Given the description of an element on the screen output the (x, y) to click on. 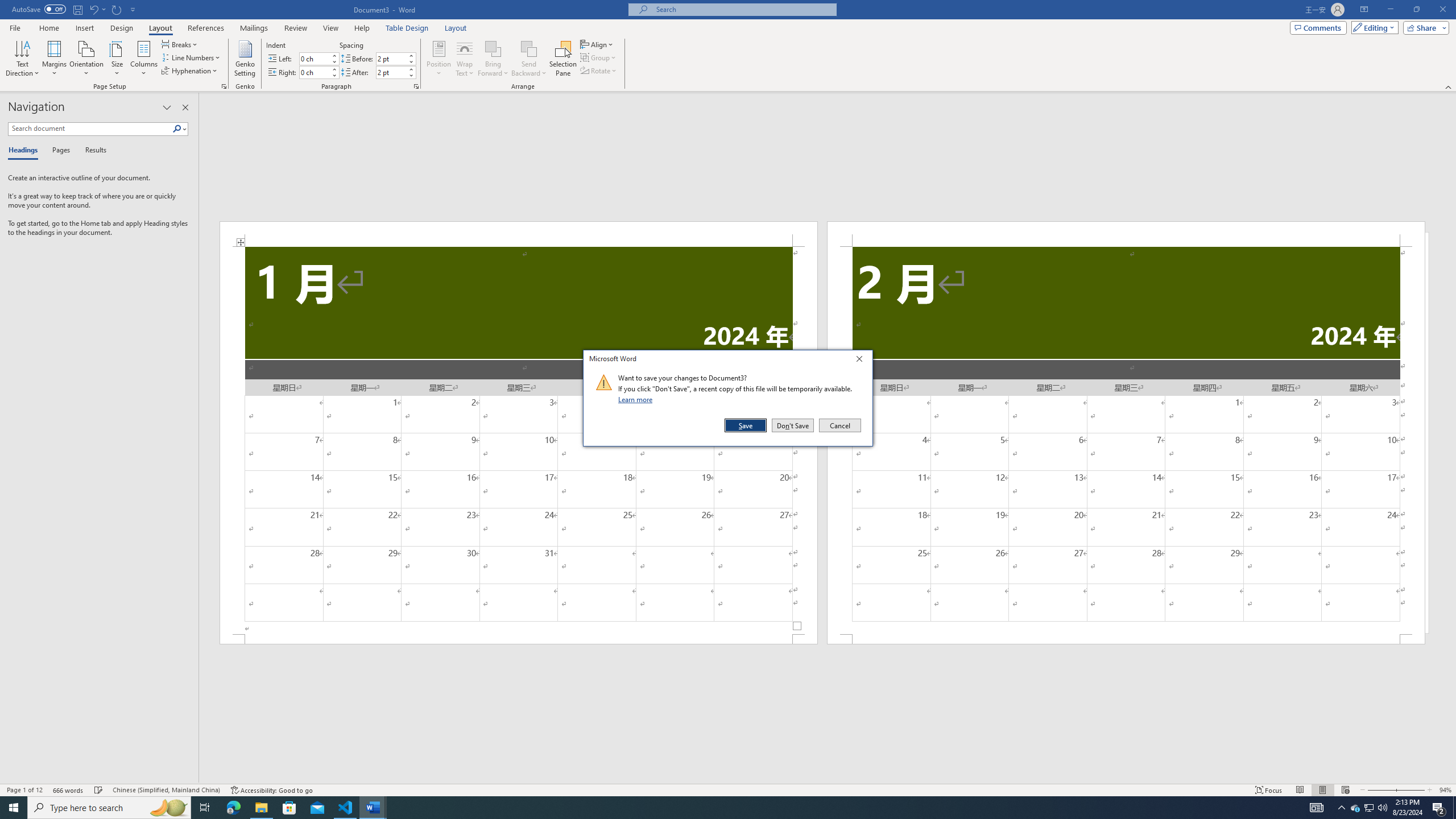
Ribbon Display Options (1364, 9)
Group (599, 56)
Zoom Out (1380, 790)
Review (295, 28)
Microsoft search (742, 9)
Search document (89, 128)
AutomationID: 4105 (1316, 807)
Wrap Text (464, 58)
Design (122, 28)
Print Layout (1322, 790)
